Given the description of an element on the screen output the (x, y) to click on. 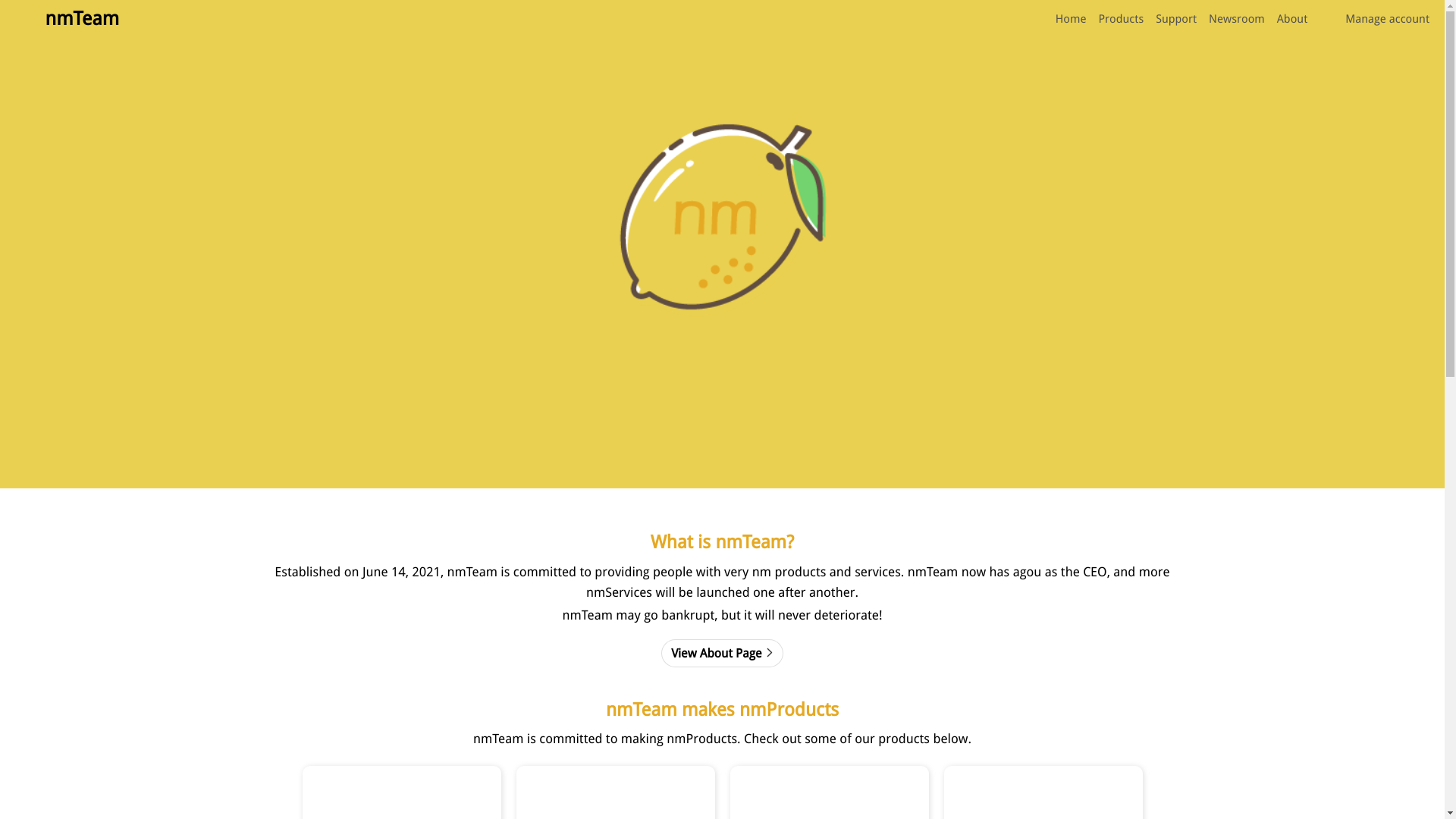
About (1292, 18)
Support (1176, 18)
All Products (722, 611)
Home (1071, 18)
Newsroom (1236, 18)
nmTeam (66, 19)
nmTeam Newsroom (721, 741)
Manage account (1374, 18)
Products (1121, 18)
View About Page (722, 193)
